Given the description of an element on the screen output the (x, y) to click on. 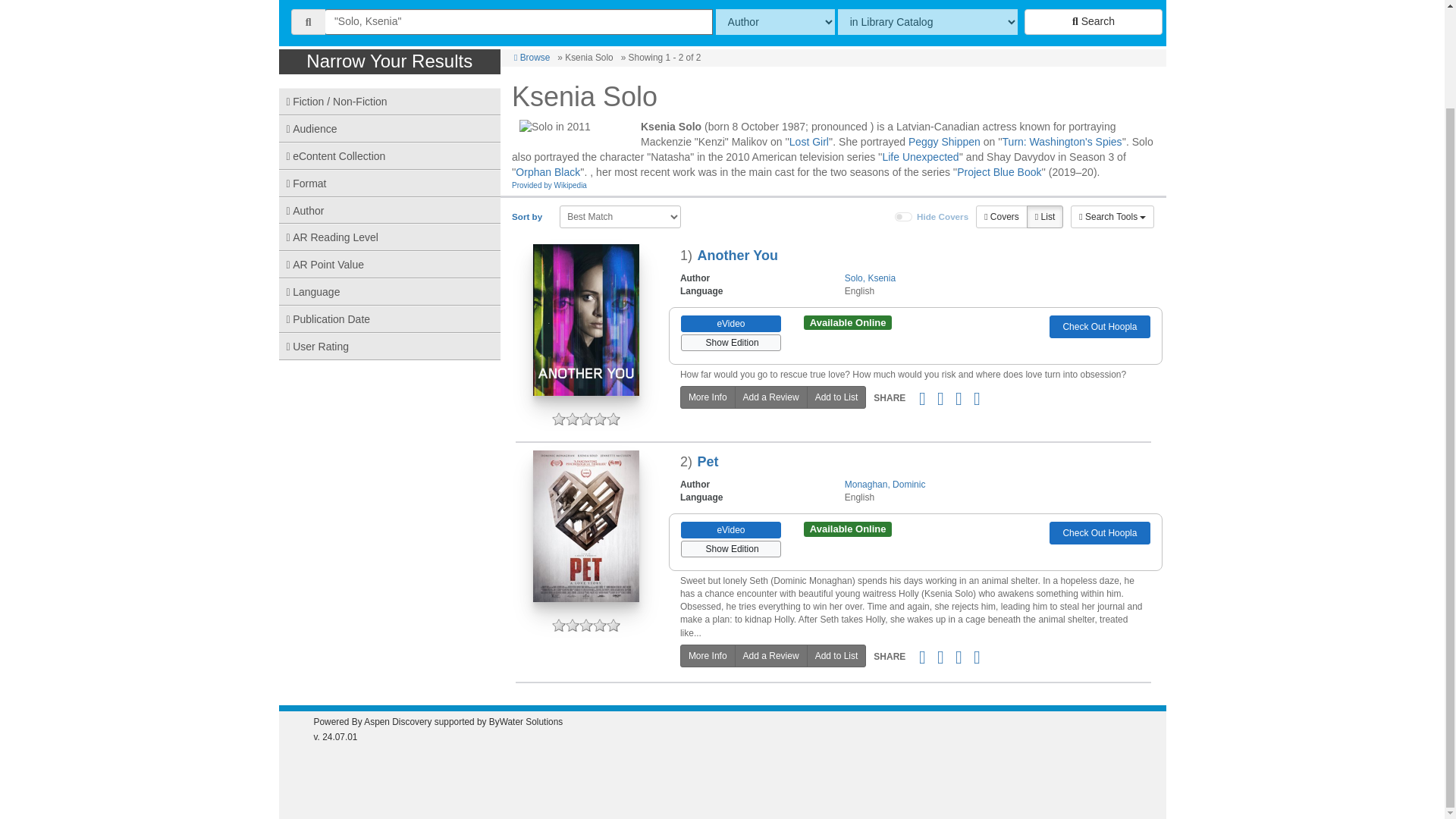
The method of searching. (775, 22)
Lost Girl (808, 141)
Life Unexpected (920, 156)
on (903, 216)
Browse (531, 57)
 Search (1093, 22)
Peggy Shippen (943, 141)
"Solo, Ksenia" (518, 22)
Turn: Washington's Spies (1062, 141)
